Given the description of an element on the screen output the (x, y) to click on. 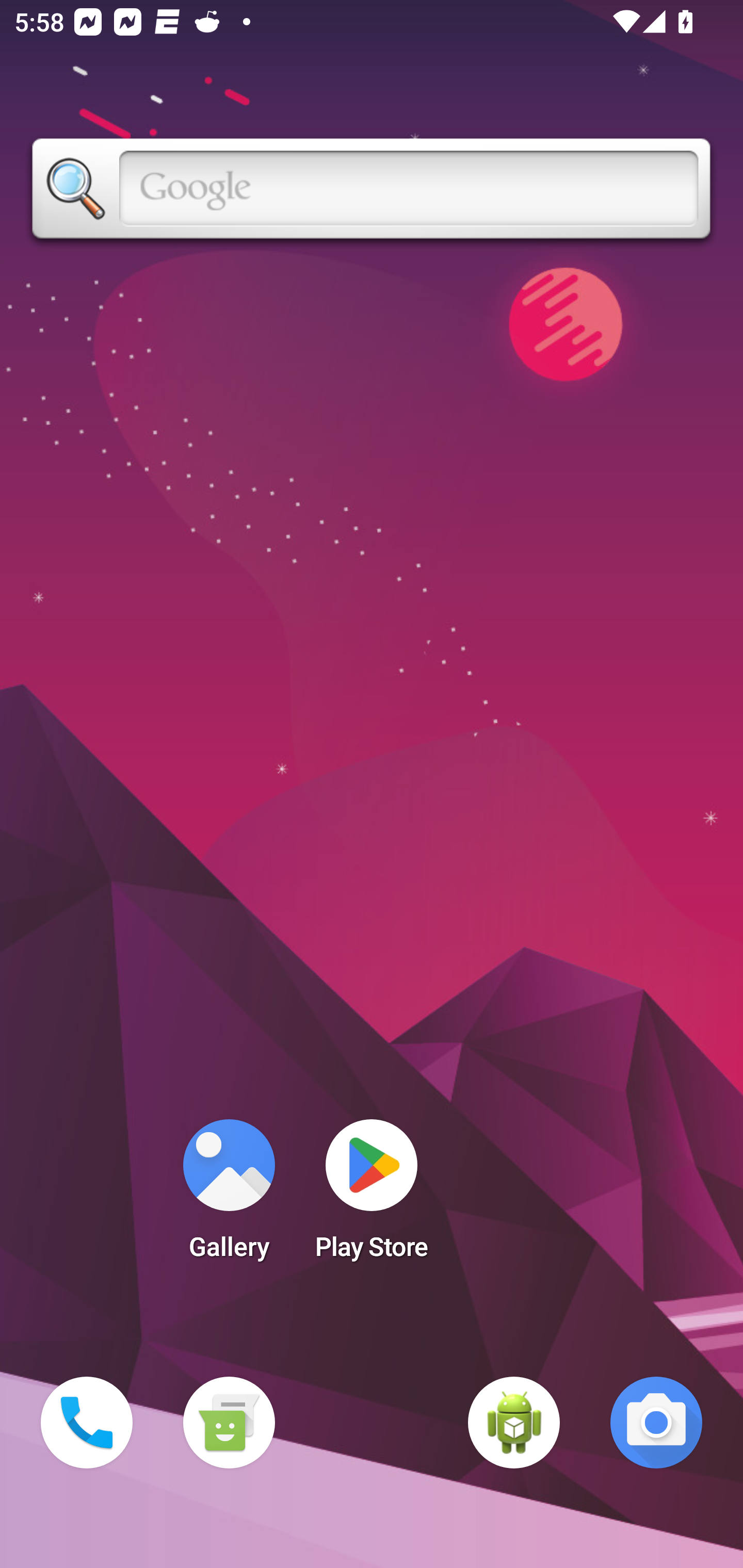
Gallery (228, 1195)
Play Store (371, 1195)
Phone (86, 1422)
Messaging (228, 1422)
WebView Browser Tester (513, 1422)
Camera (656, 1422)
